Given the description of an element on the screen output the (x, y) to click on. 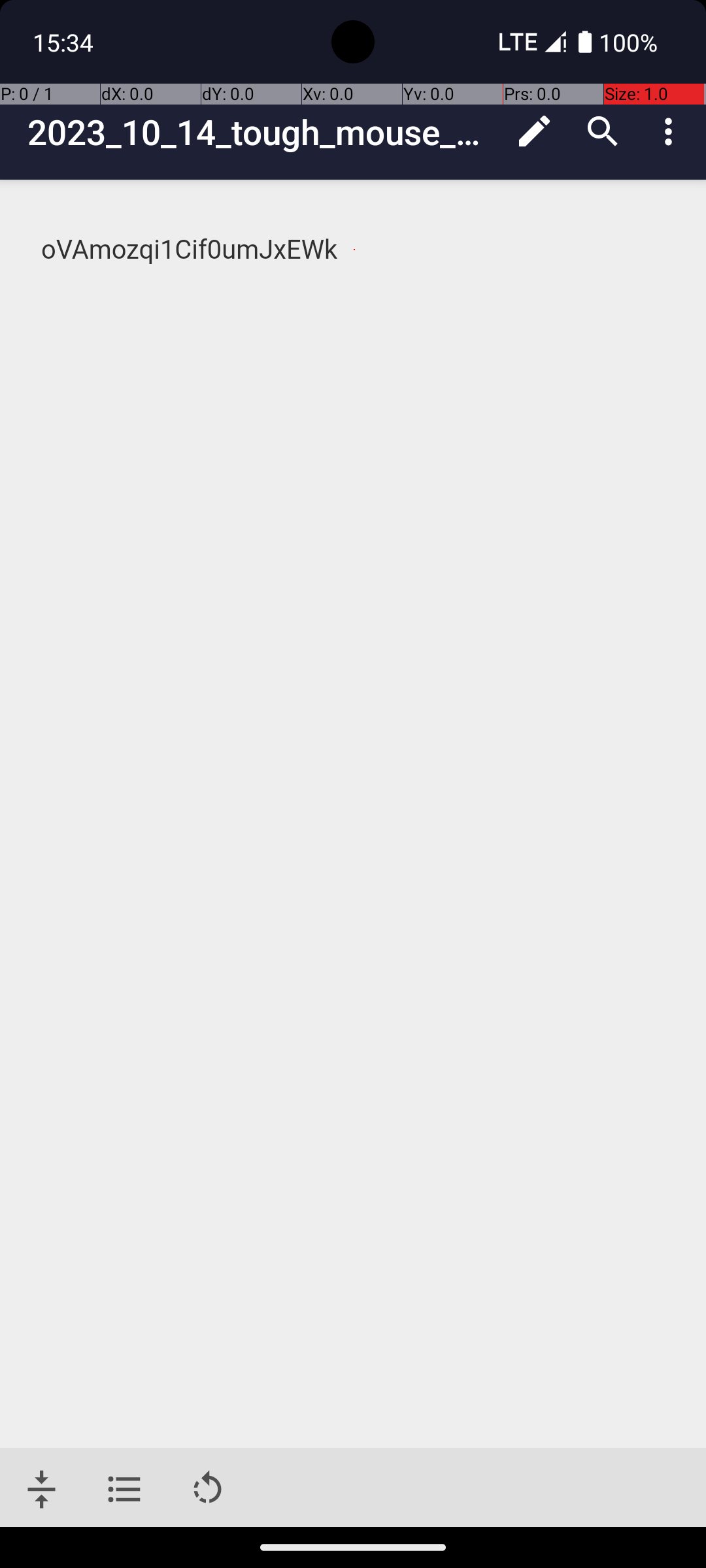
2023_10_14_tough_mouse_2023_04_01 Element type: android.widget.TextView (263, 131)
oVAmozqi1Cif0umJxEWk Element type: android.widget.TextView (354, 249)
